Given the description of an element on the screen output the (x, y) to click on. 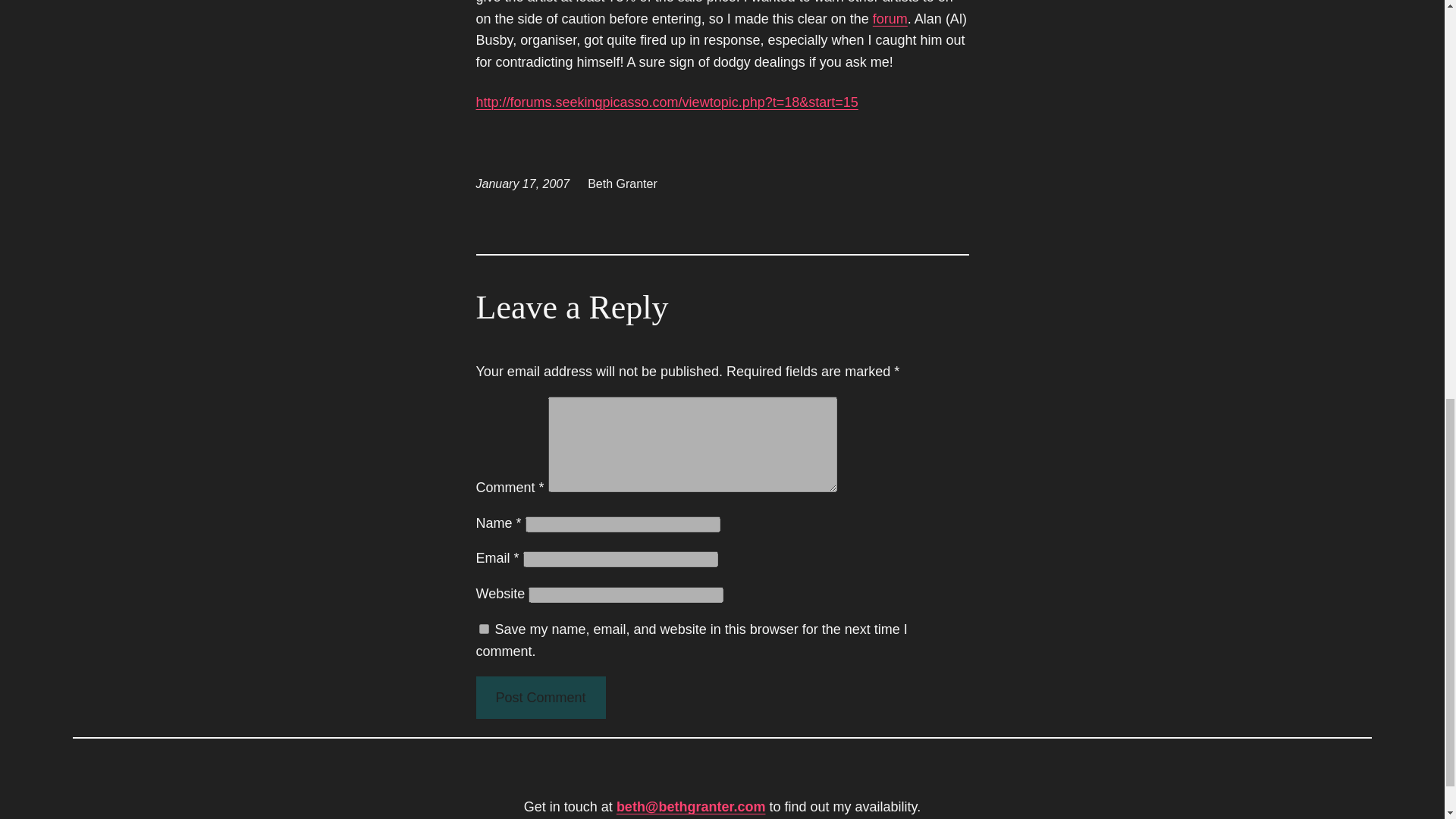
seeking picasso forum (667, 102)
forum (889, 18)
Post Comment (540, 697)
seeking picasso forum (889, 18)
yes (484, 628)
Post Comment (540, 697)
